Given the description of an element on the screen output the (x, y) to click on. 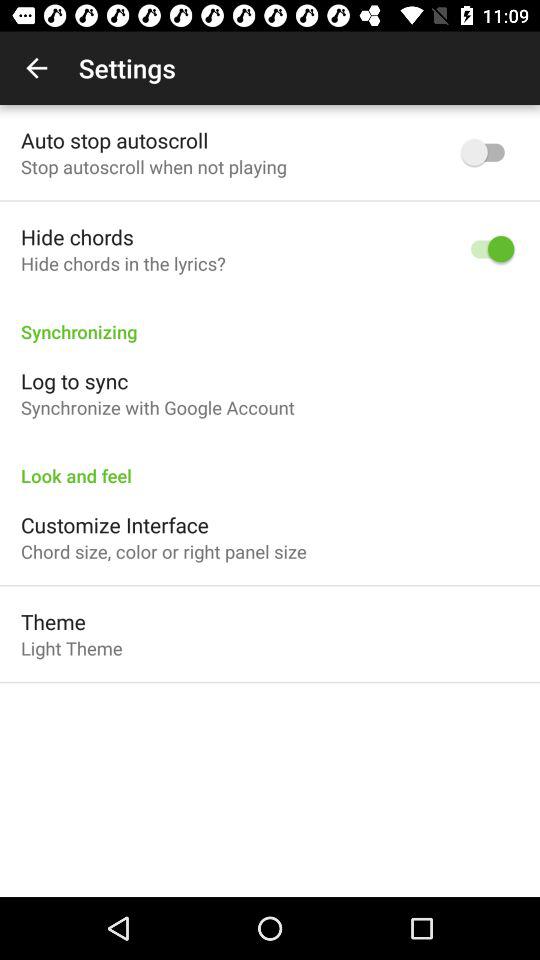
open the icon above the chord size color item (114, 524)
